Given the description of an element on the screen output the (x, y) to click on. 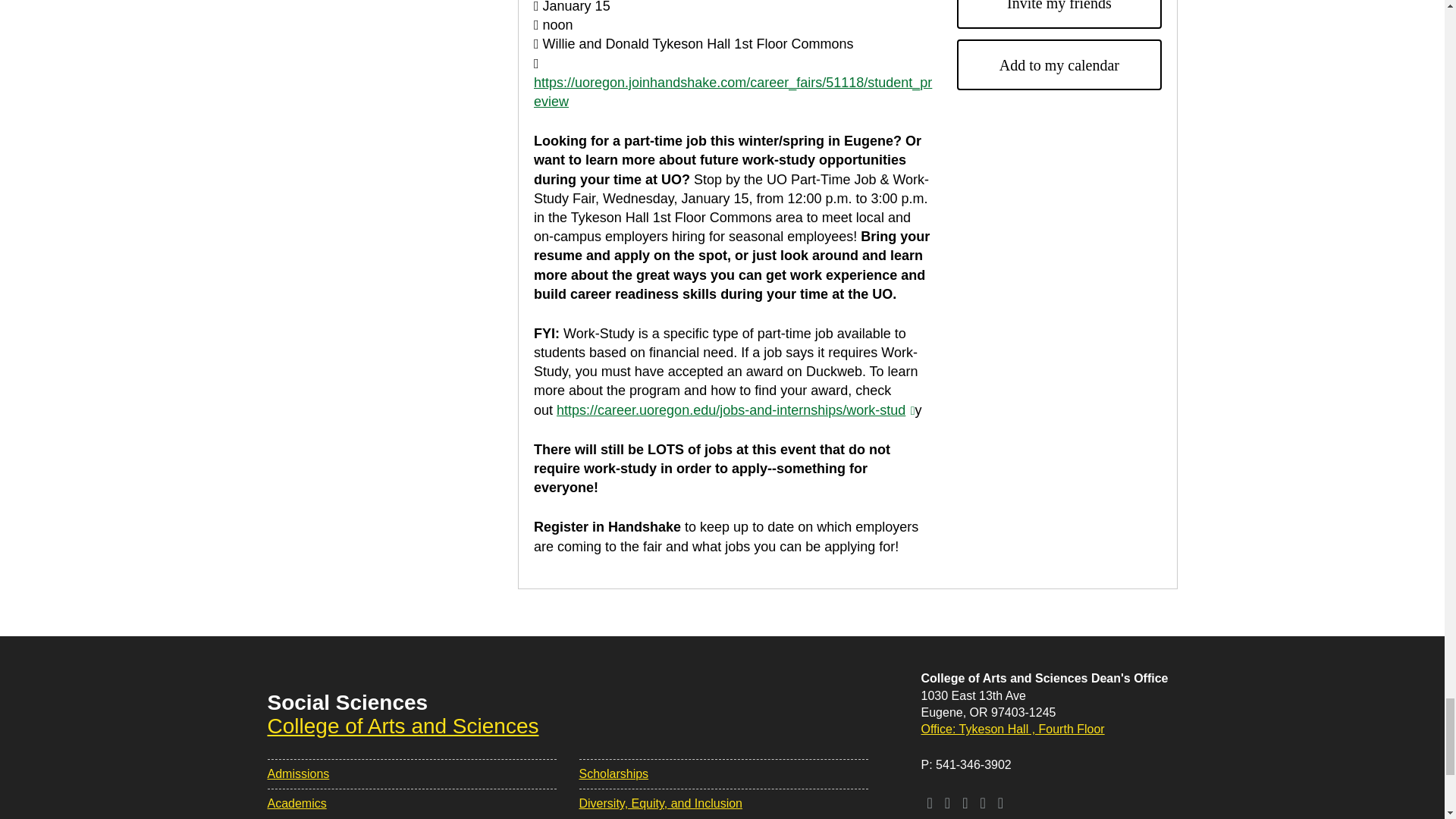
View location on UO Maps (1013, 728)
